Given the description of an element on the screen output the (x, y) to click on. 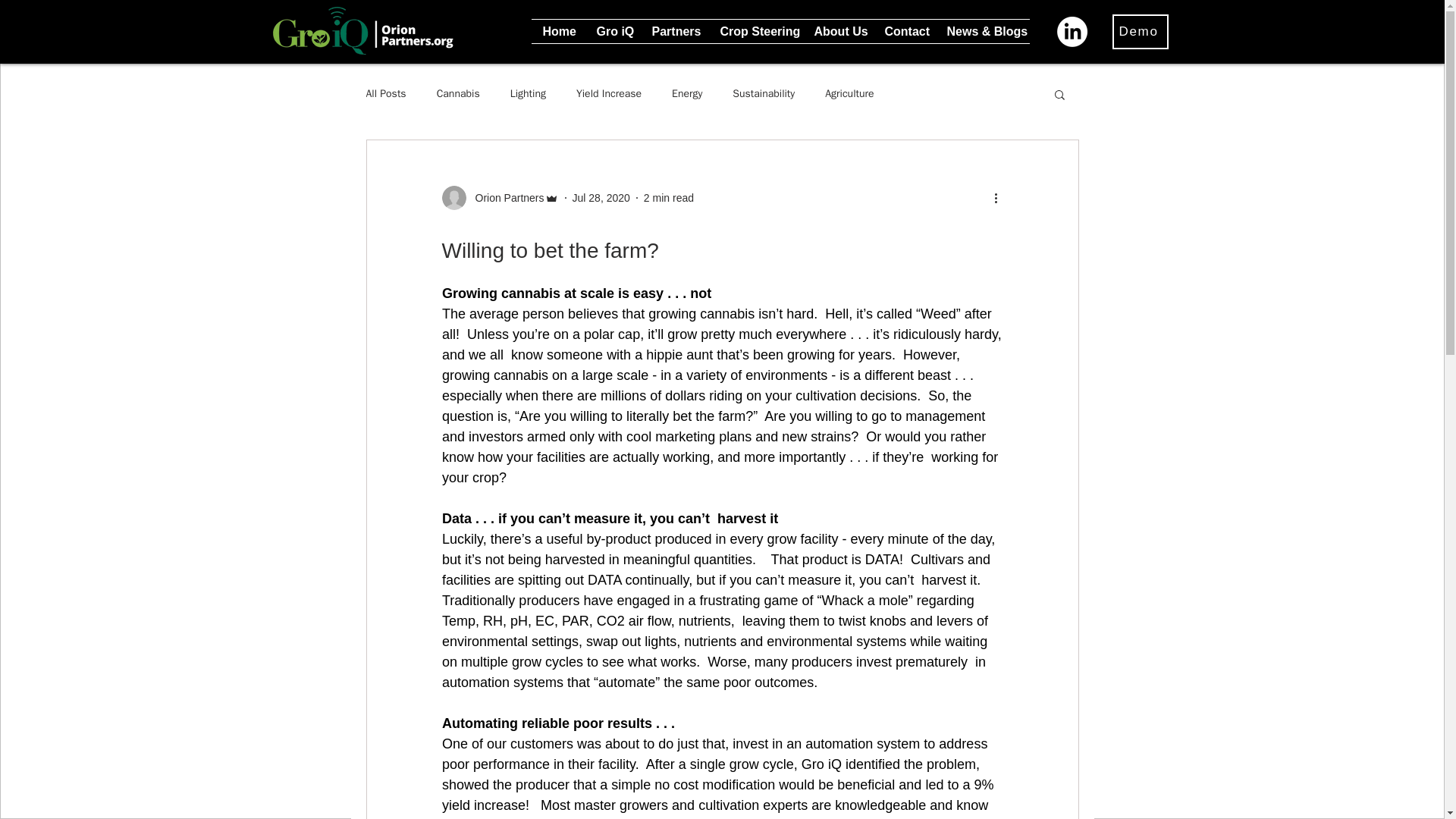
Home (558, 31)
All Posts (385, 93)
Partners (673, 31)
Gro iQ (612, 31)
Orion Partners (499, 197)
Energy (686, 93)
Yield Increase (609, 93)
Jul 28, 2020 (601, 196)
About Us (837, 31)
2 min read (668, 196)
